Given the description of an element on the screen output the (x, y) to click on. 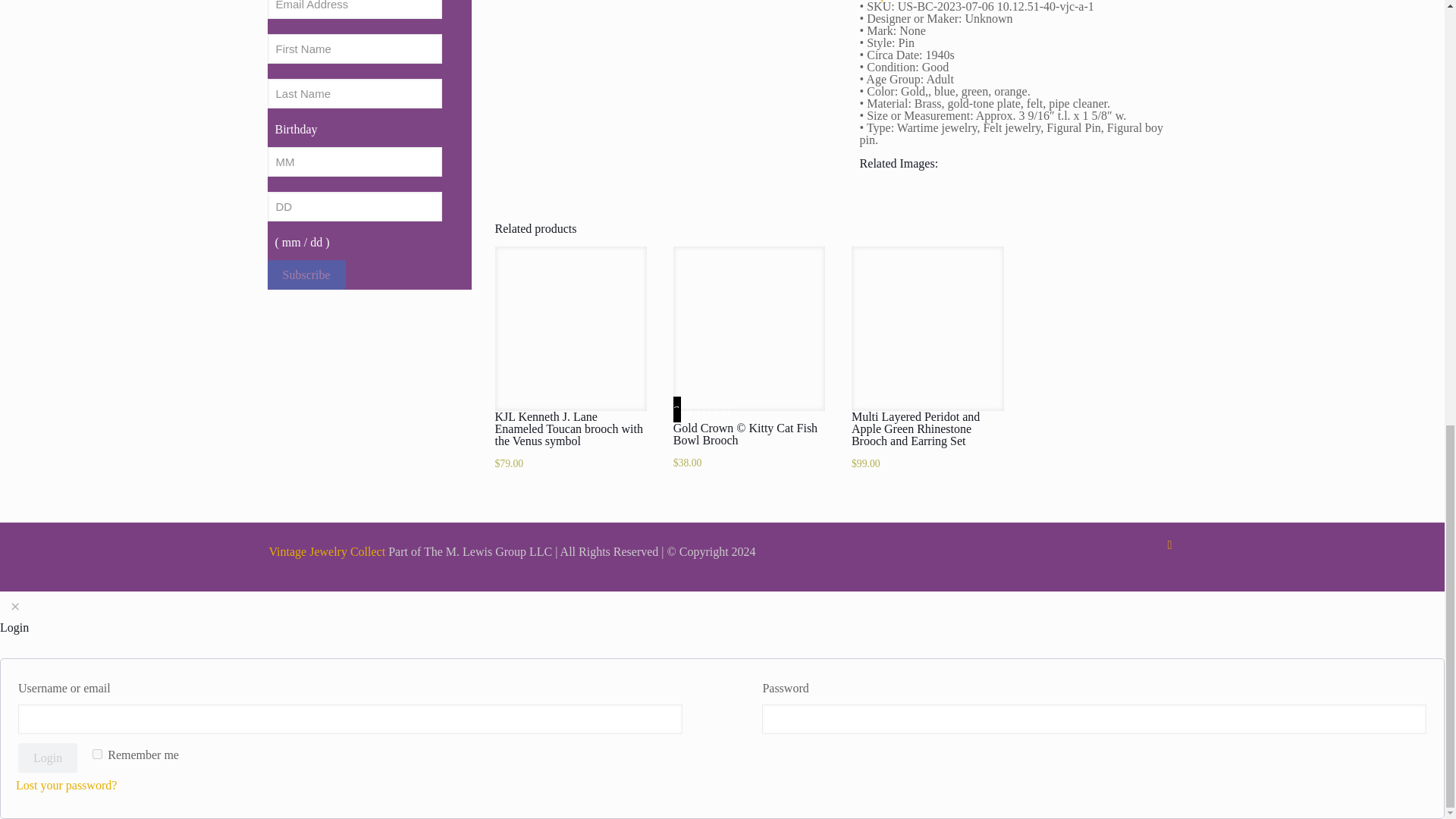
Subscribe (305, 274)
forever (97, 754)
